Given the description of an element on the screen output the (x, y) to click on. 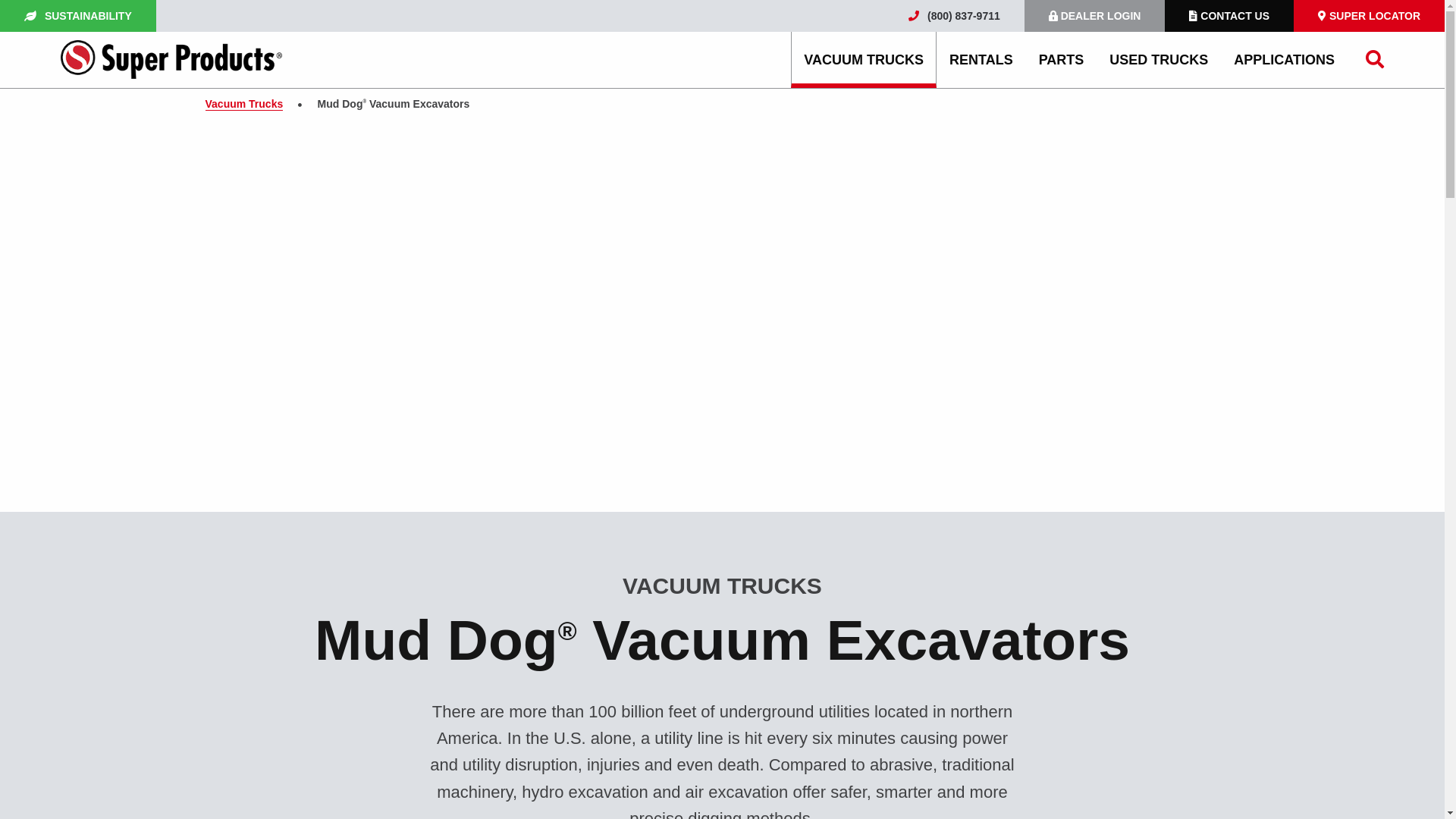
SUPER LOCATOR Element type: text (1368, 15)
VACUUM TRUCKS Element type: text (863, 59)
CONTACT US Element type: text (1228, 15)
(800) 837-9711 Element type: text (954, 15)
DEALER LOGIN Element type: text (1094, 15)
USED TRUCKS Element type: text (1158, 59)
SUSTAINABILITY Element type: text (78, 15)
APPLICATIONS Element type: text (1283, 59)
PARTS Element type: text (1061, 59)
Vacuum Trucks Element type: text (243, 103)
RENTALS Element type: text (981, 59)
